Given the description of an element on the screen output the (x, y) to click on. 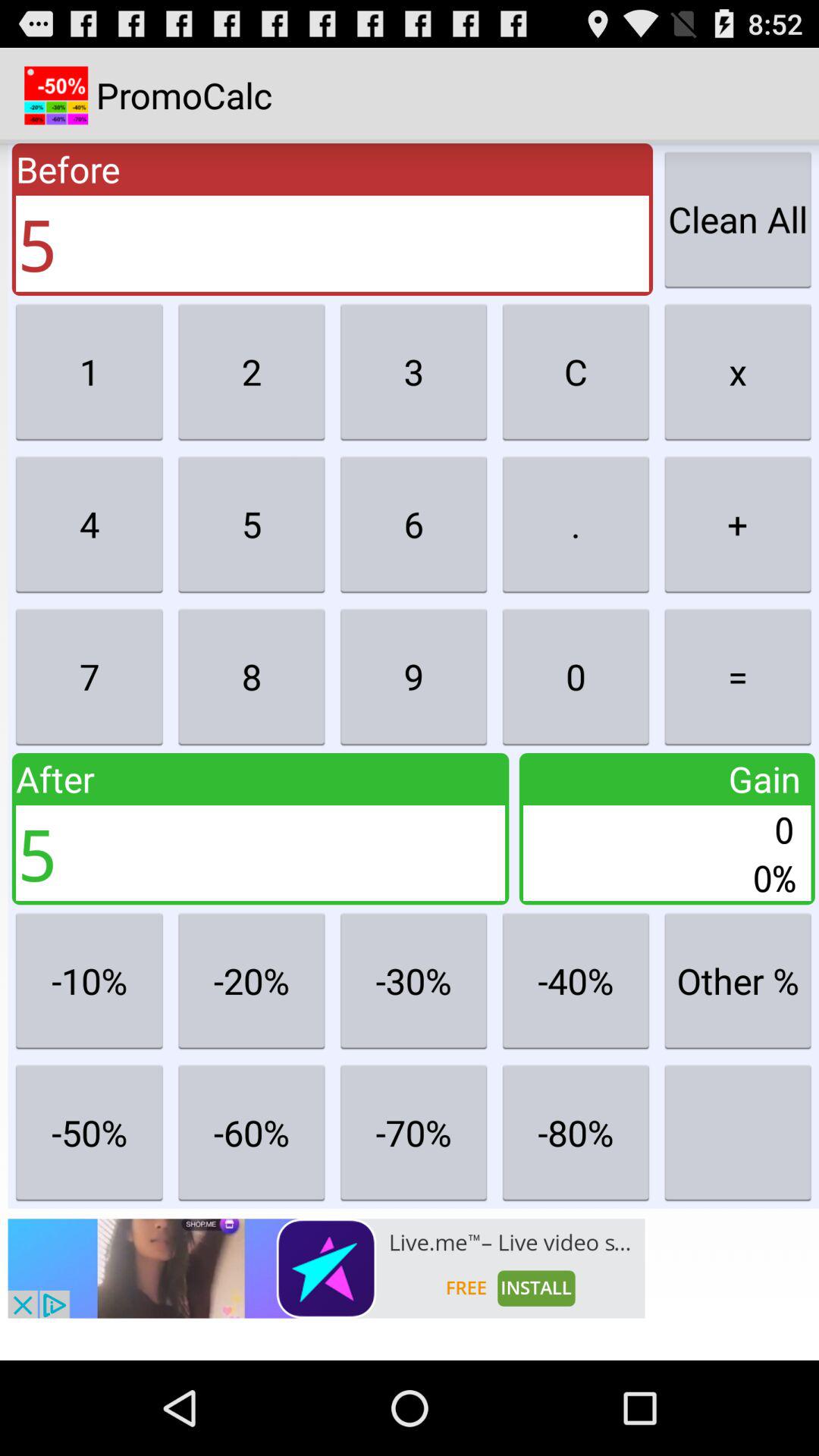
go to number 4 (89, 523)
select 40 icon (575, 980)
select the number next to 9 (575, 675)
click on the multiply button (737, 371)
select the number 2 below the before (251, 371)
click the button next to the number 6 (575, 523)
select the last text at the right bottom (737, 1132)
go to 10 (89, 980)
